Given the description of an element on the screen output the (x, y) to click on. 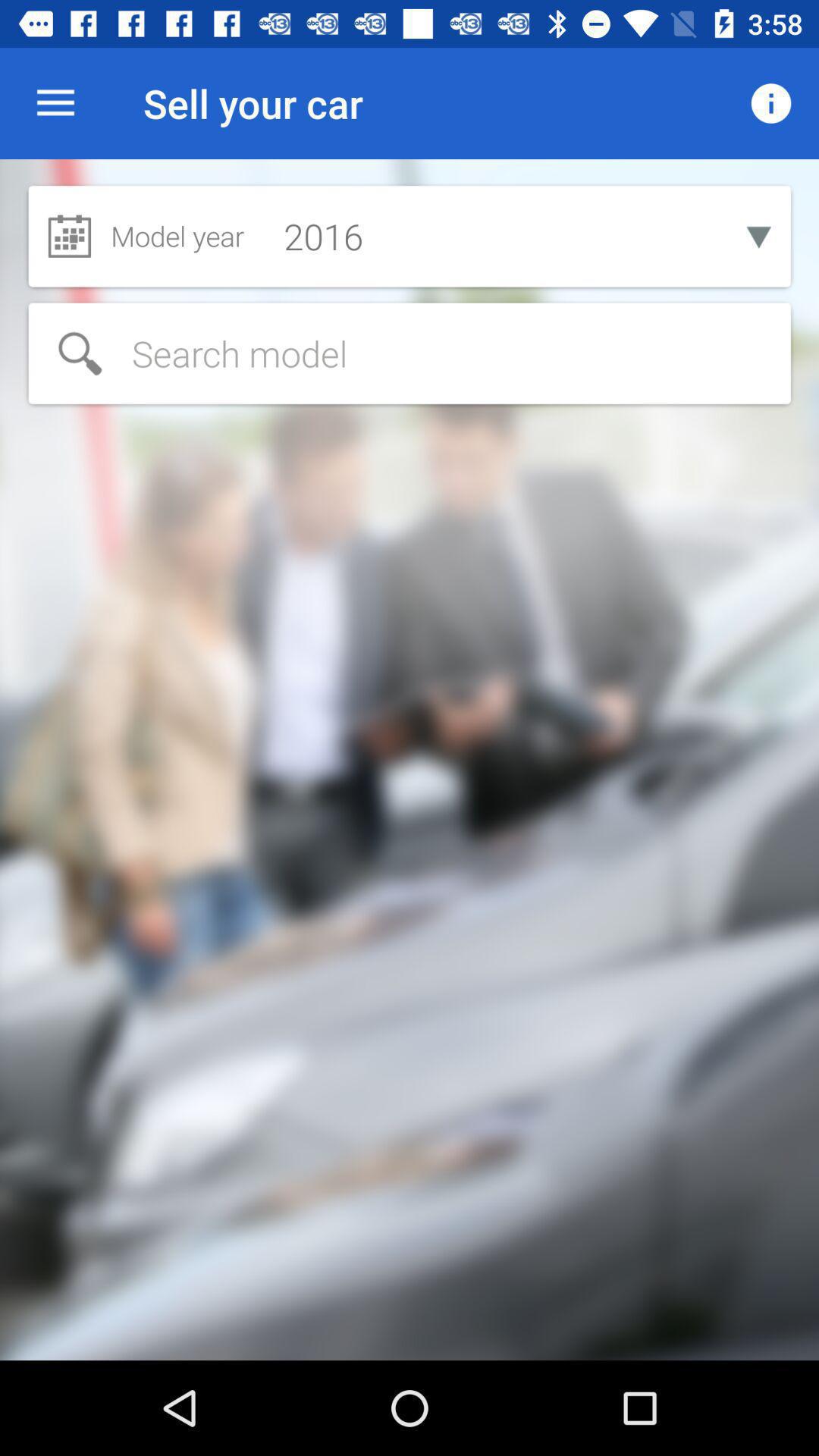
search text field (409, 353)
